Given the description of an element on the screen output the (x, y) to click on. 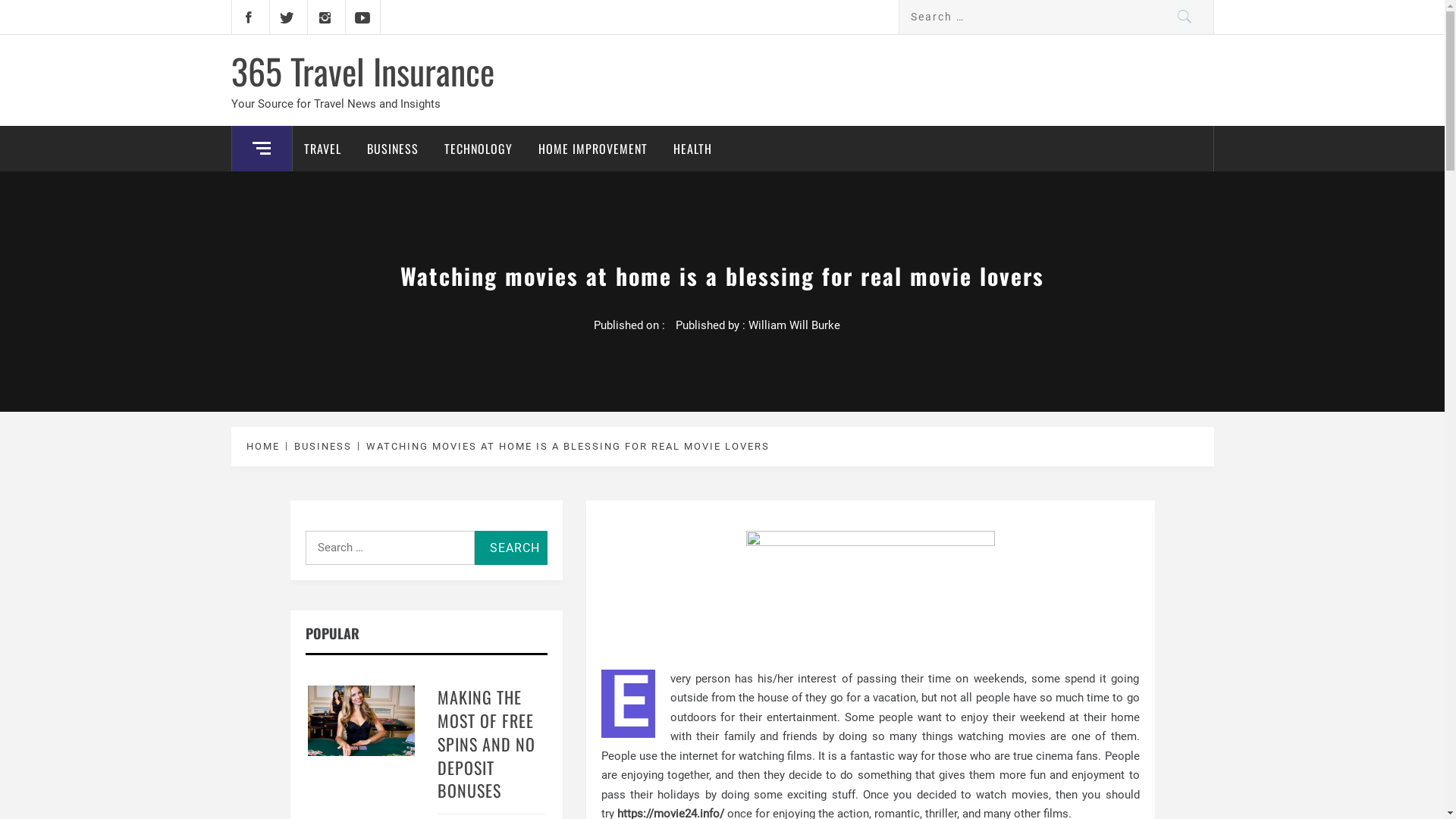
TECHNOLOGY Element type: text (477, 148)
MAKING THE MOST OF FREE SPINS AND NO DEPOSIT BONUSES Element type: text (486, 743)
Search Element type: text (510, 547)
BUSINESS Element type: text (321, 445)
HOME IMPROVEMENT Element type: text (592, 148)
BUSINESS Element type: text (391, 148)
TRAVEL Element type: text (322, 148)
William Will Burke Element type: text (793, 325)
WATCHING MOVIES AT HOME IS A BLESSING FOR REAL MOVIE LOVERS Element type: text (565, 445)
HOME Element type: text (264, 445)
365 Travel Insurance Element type: text (361, 70)
Search Element type: text (1183, 17)
HEALTH Element type: text (691, 148)
